Given the description of an element on the screen output the (x, y) to click on. 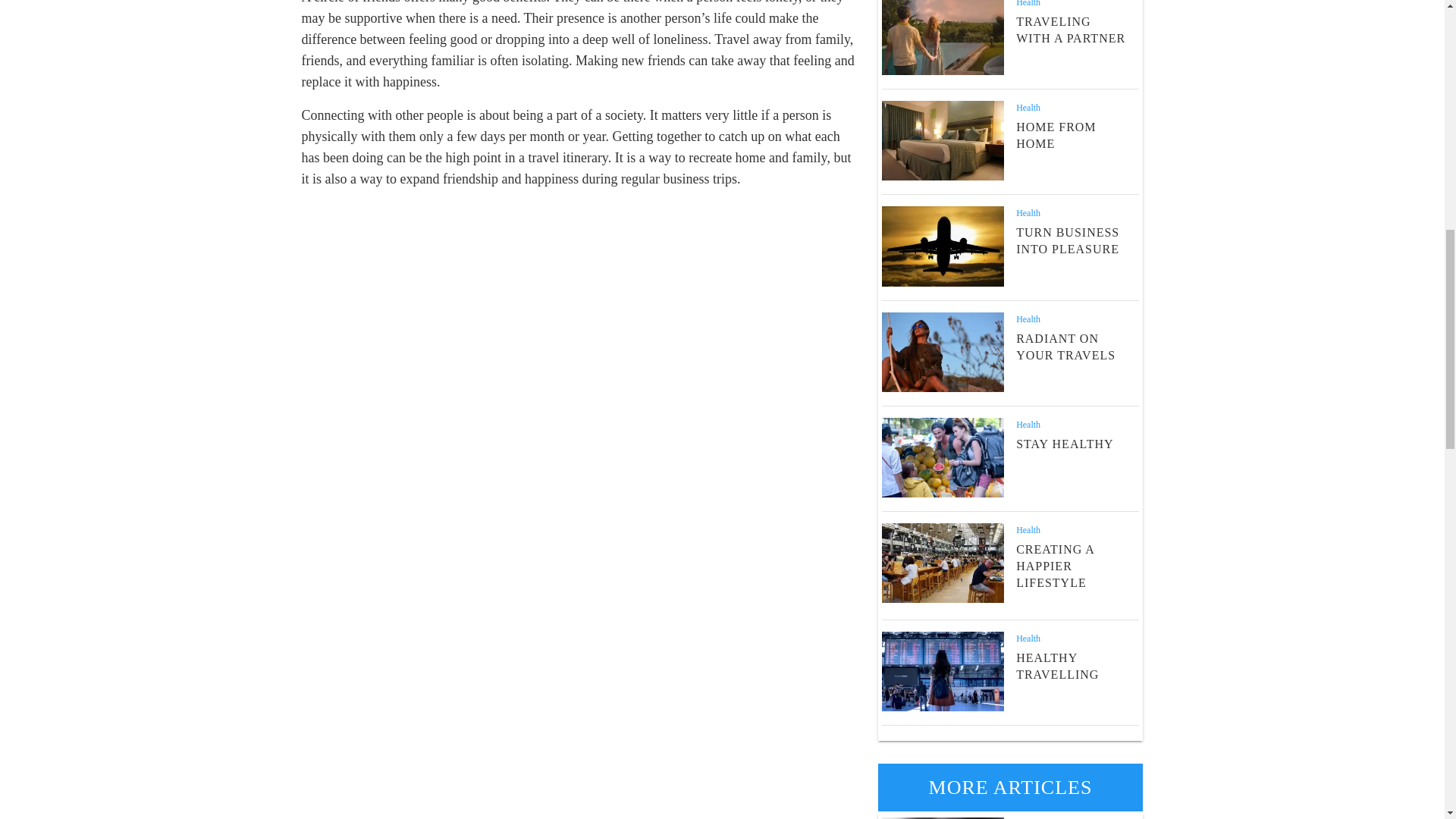
RADIANT ON YOUR TRAVELS (1065, 346)
Health (1028, 424)
HOME FROM HOME (1056, 134)
Health (1028, 318)
STAY HEALTHY (1064, 443)
Health (1028, 107)
Health (1028, 213)
Health (1028, 3)
TURN BUSINESS INTO PLEASURE (1067, 240)
TRAVELING WITH A PARTNER (1070, 30)
